Given the description of an element on the screen output the (x, y) to click on. 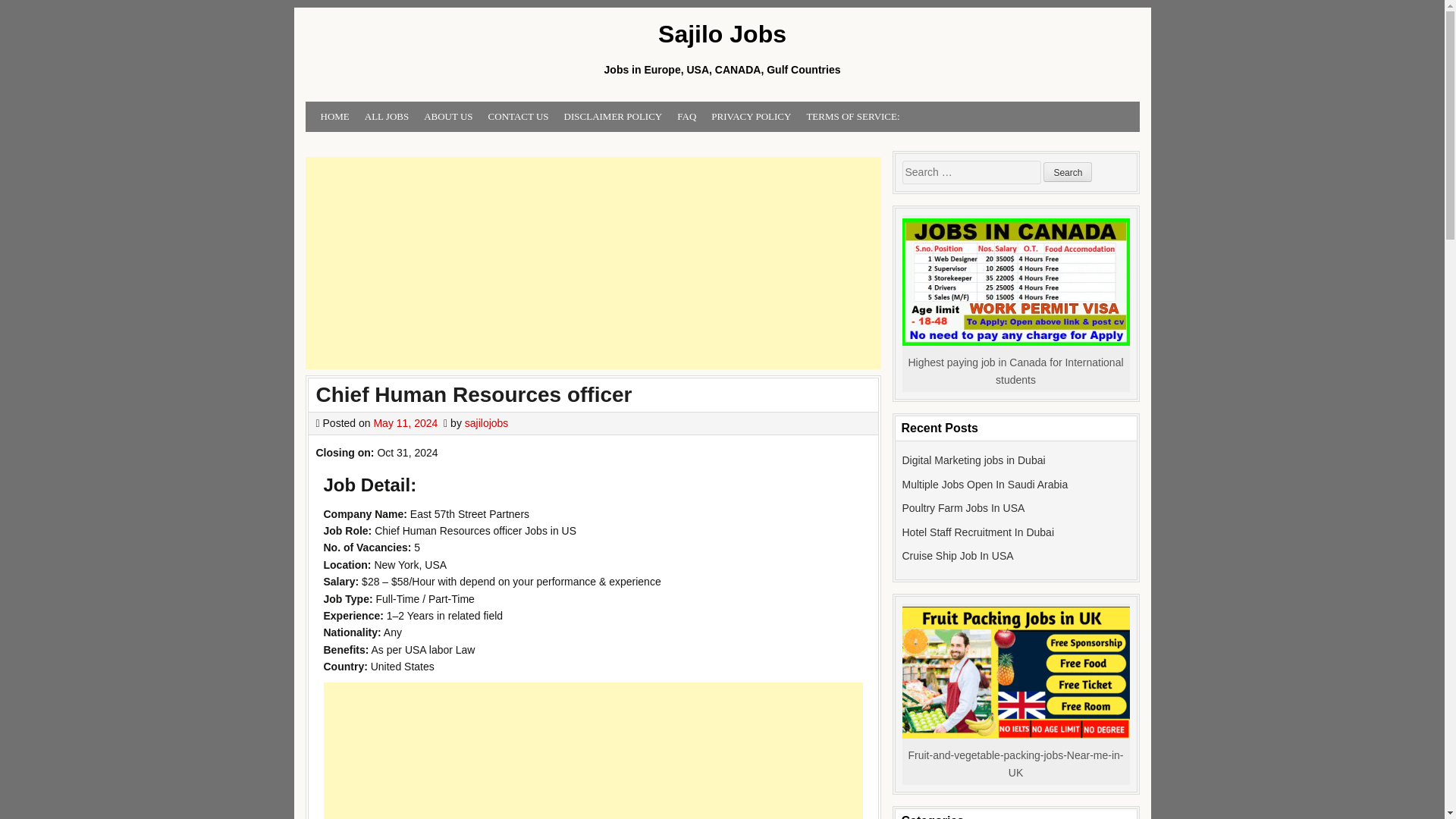
May 11, 2024 (405, 422)
Cruise Ship Job In USA (957, 555)
ABOUT US (448, 116)
Search (1067, 171)
Multiple Jobs Open In Saudi Arabia (985, 484)
Chief Human Resources officer (473, 394)
sajilojobs (486, 422)
HOME (334, 116)
Digital Marketing jobs in Dubai (973, 460)
Search (1067, 171)
FAQ (686, 116)
Advertisement (592, 263)
Hotel Staff Recruitment In Dubai (978, 532)
CONTACT US (518, 116)
Search (1067, 171)
